Given the description of an element on the screen output the (x, y) to click on. 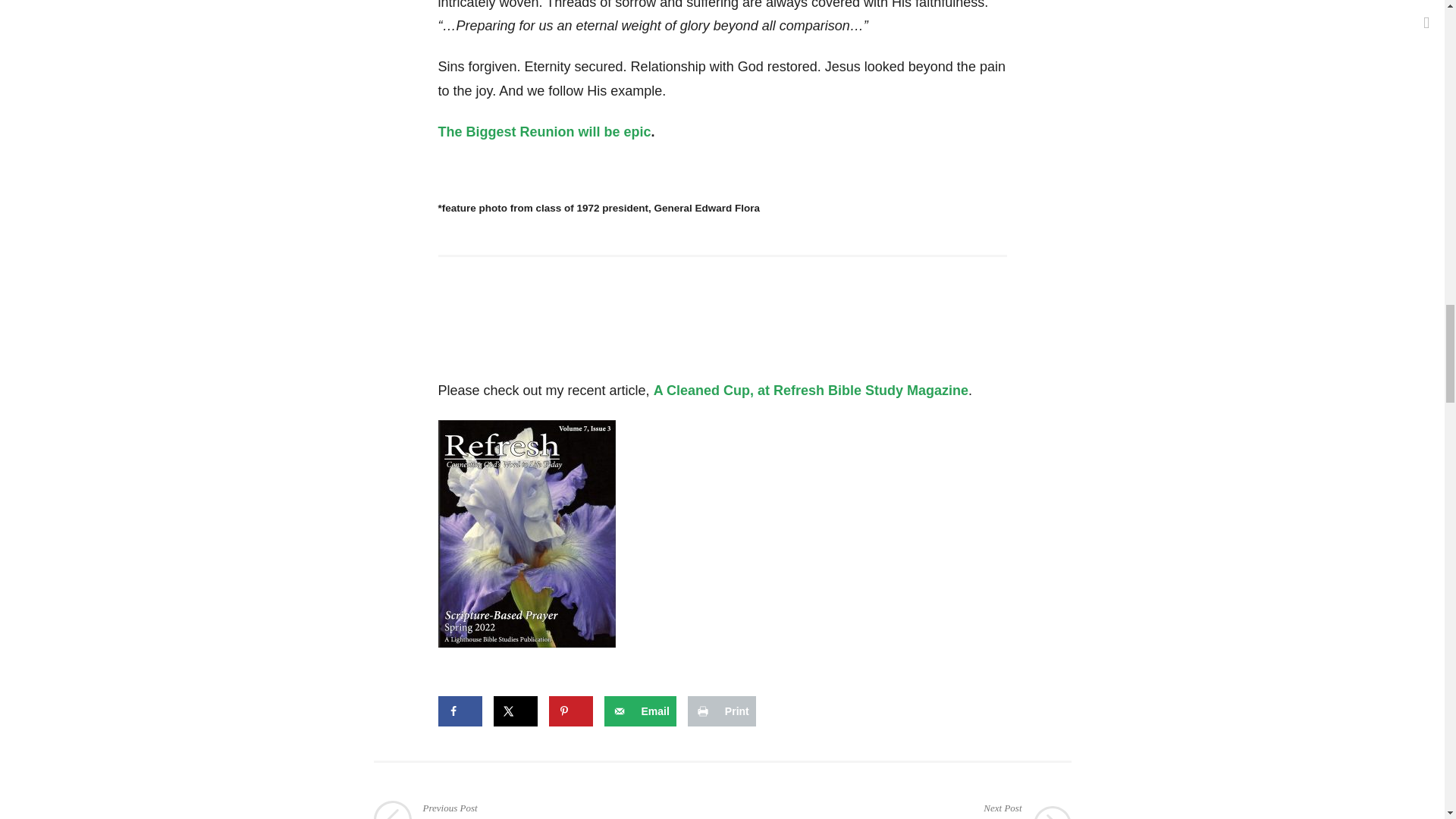
Send over email (639, 711)
Email (639, 711)
Print (721, 711)
Share on Facebook (547, 809)
Save to Pinterest (459, 711)
Share on X (570, 711)
The Biggest Reunion will be epic (515, 711)
Print this webpage (544, 131)
A Cleaned Cup, at Refresh Bible Study Magazine (721, 711)
